Given the description of an element on the screen output the (x, y) to click on. 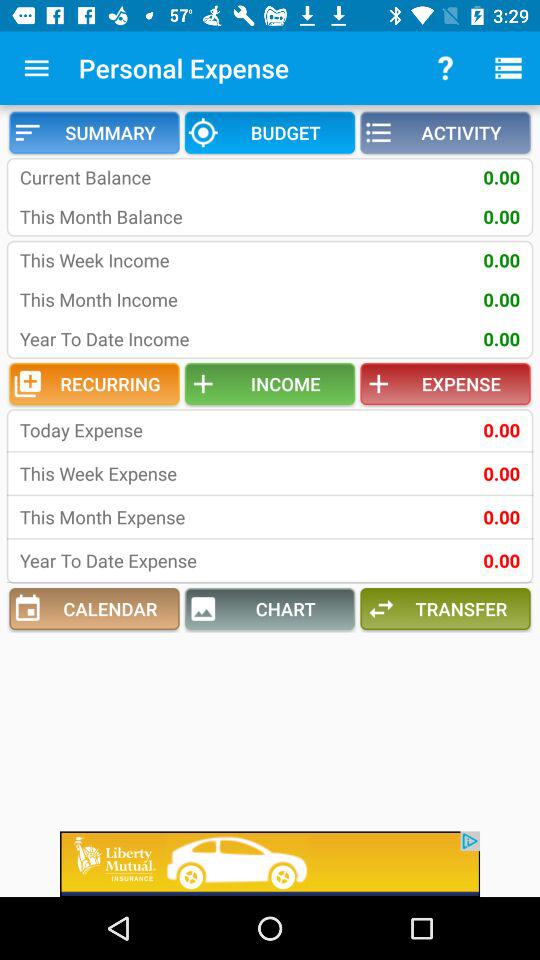
turn off icon below the 0.00 (445, 609)
